Given the description of an element on the screen output the (x, y) to click on. 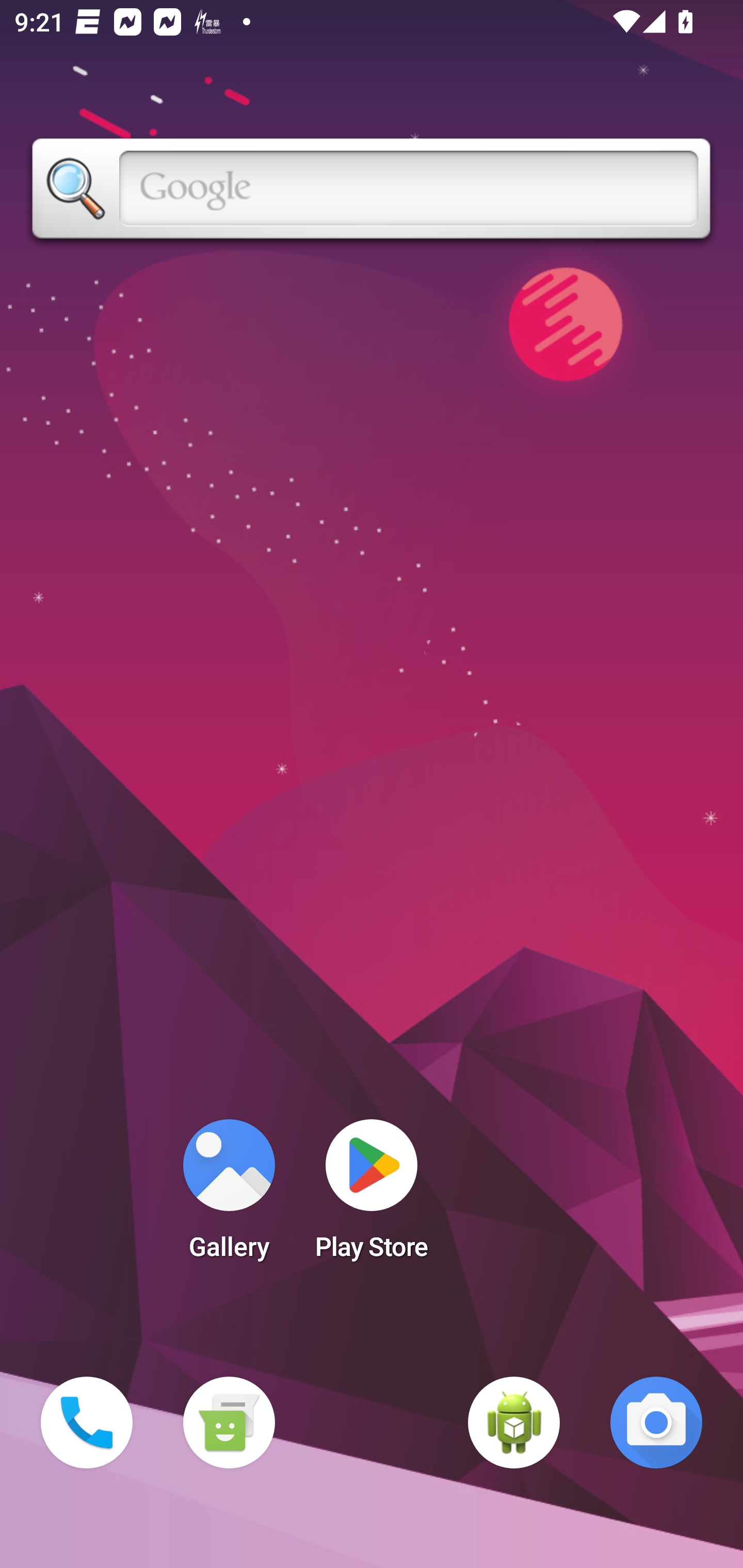
Gallery (228, 1195)
Play Store (371, 1195)
Phone (86, 1422)
Messaging (228, 1422)
WebView Browser Tester (513, 1422)
Camera (656, 1422)
